Given the description of an element on the screen output the (x, y) to click on. 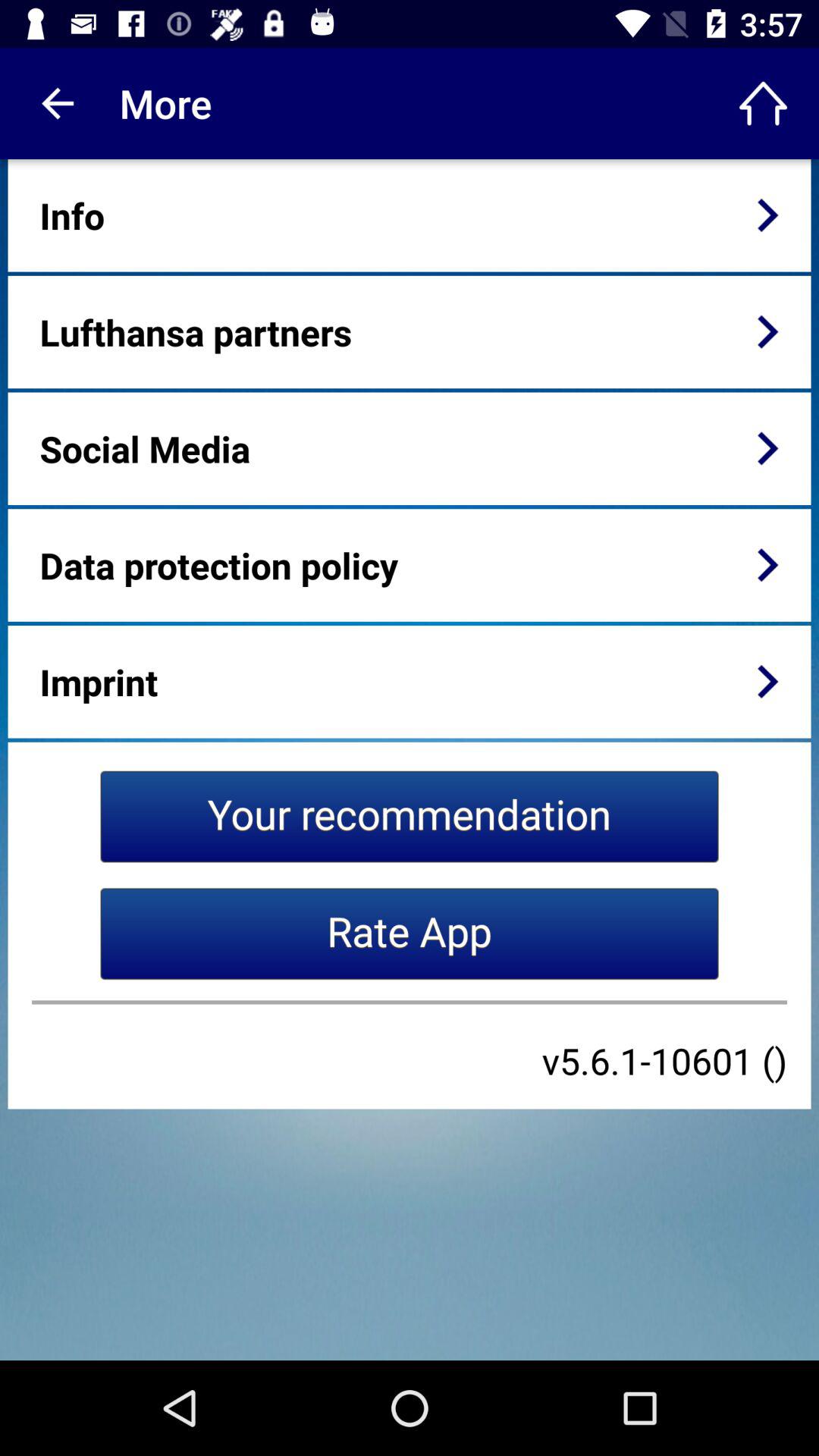
tap icon below the rate app item (409, 1002)
